Given the description of an element on the screen output the (x, y) to click on. 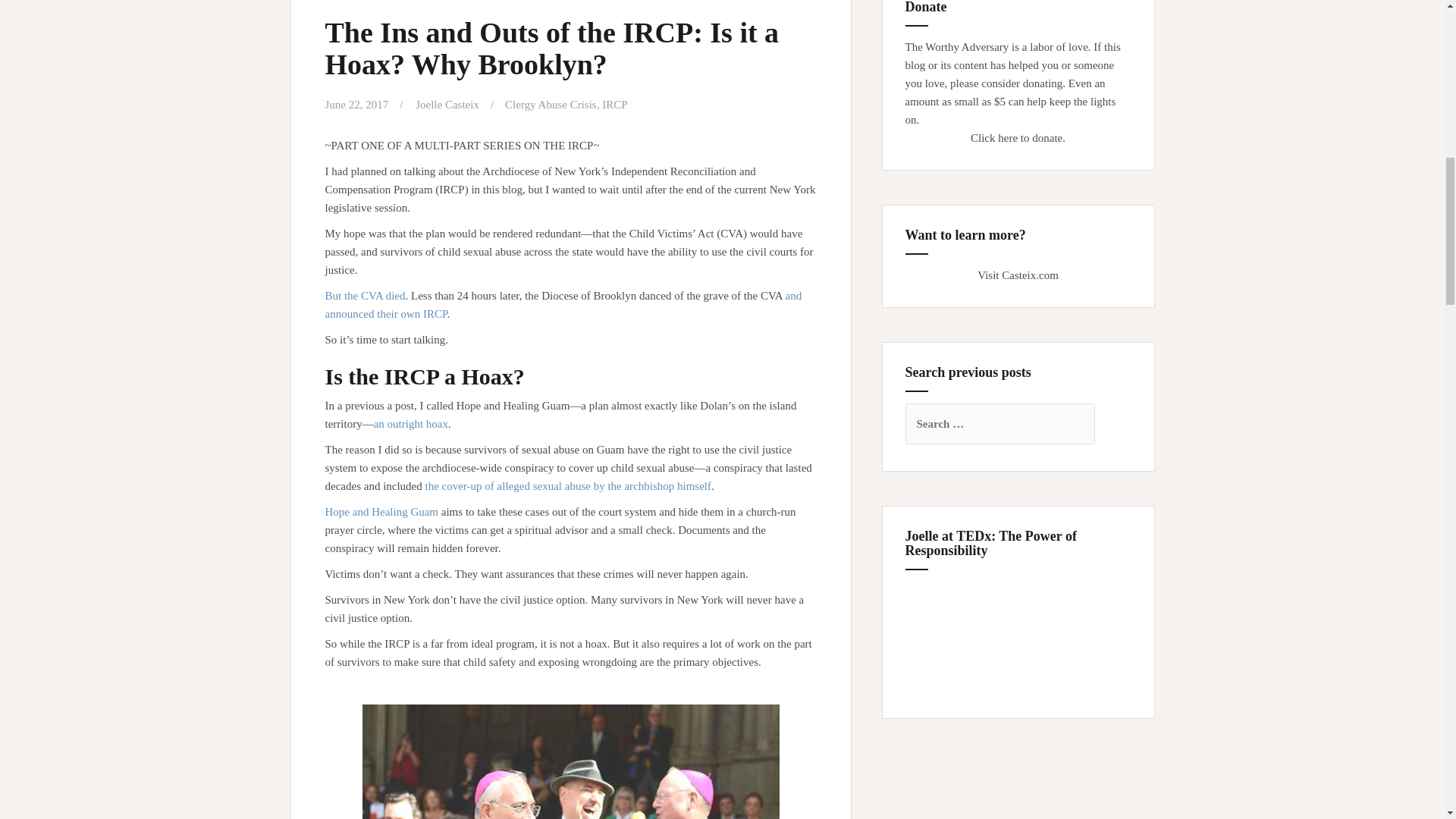
IRCP (614, 104)
Joelle Casteix (446, 104)
an outright hoax (411, 423)
Hope and Healing Guam (381, 511)
Click here to donate. (1018, 137)
June 22, 2017 (356, 104)
But the CVA died (364, 295)
Clergy Abuse Crisis (550, 104)
Visit Casteix.com (1017, 275)
